Given the description of an element on the screen output the (x, y) to click on. 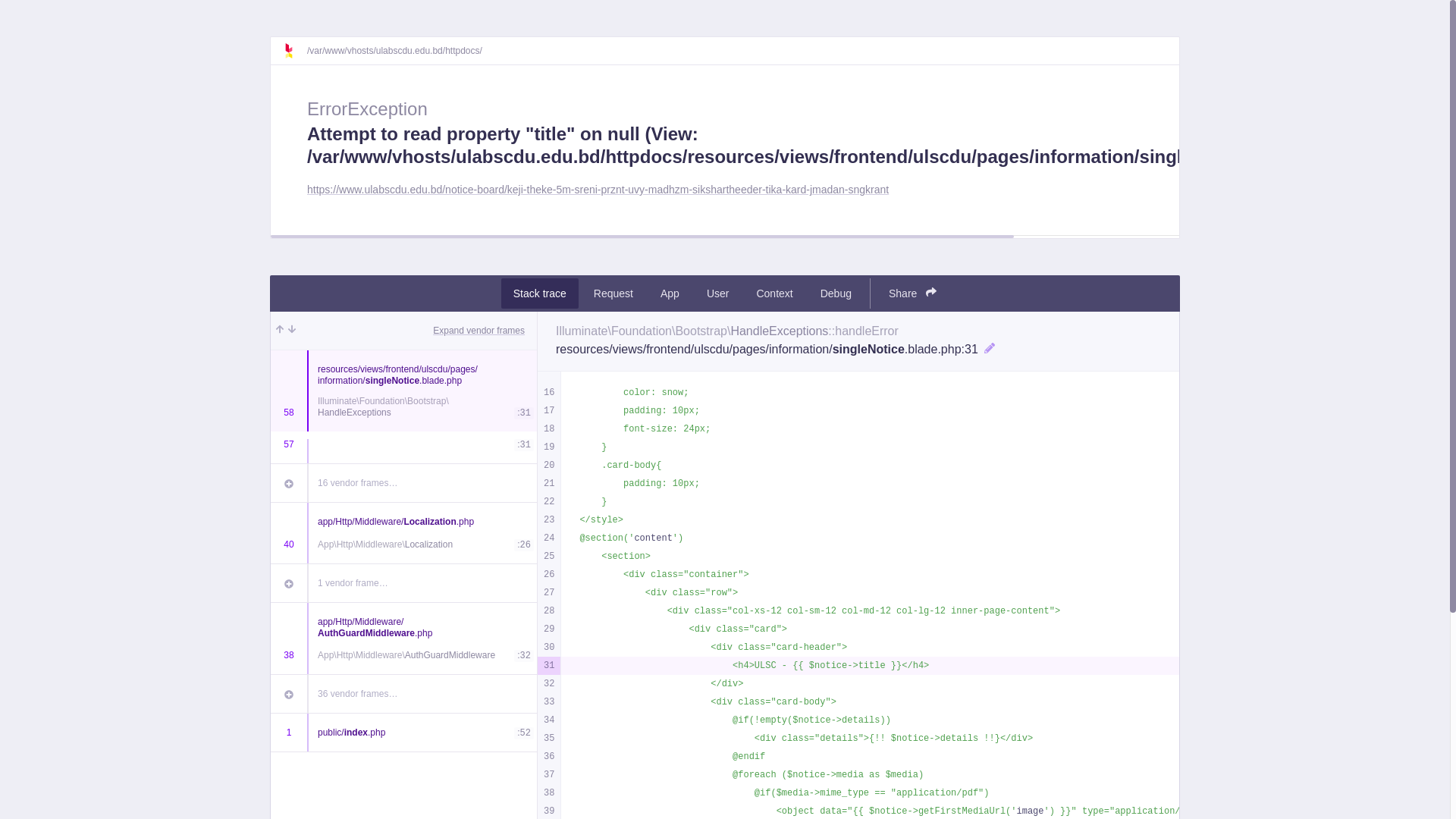
Context Element type: text (773, 293)
Request Element type: text (613, 293)
Stack trace Element type: text (539, 293)
Expand vendor frames Element type: text (478, 330)
Debug Element type: text (835, 293)
Share Element type: text (912, 293)
App Element type: text (669, 293)
Ignition docs Element type: hover (294, 50)
User Element type: text (717, 293)
Frame up (Key:K) Element type: hover (279, 330)
Frame down (Key:J) Element type: hover (291, 330)
